Given the description of an element on the screen output the (x, y) to click on. 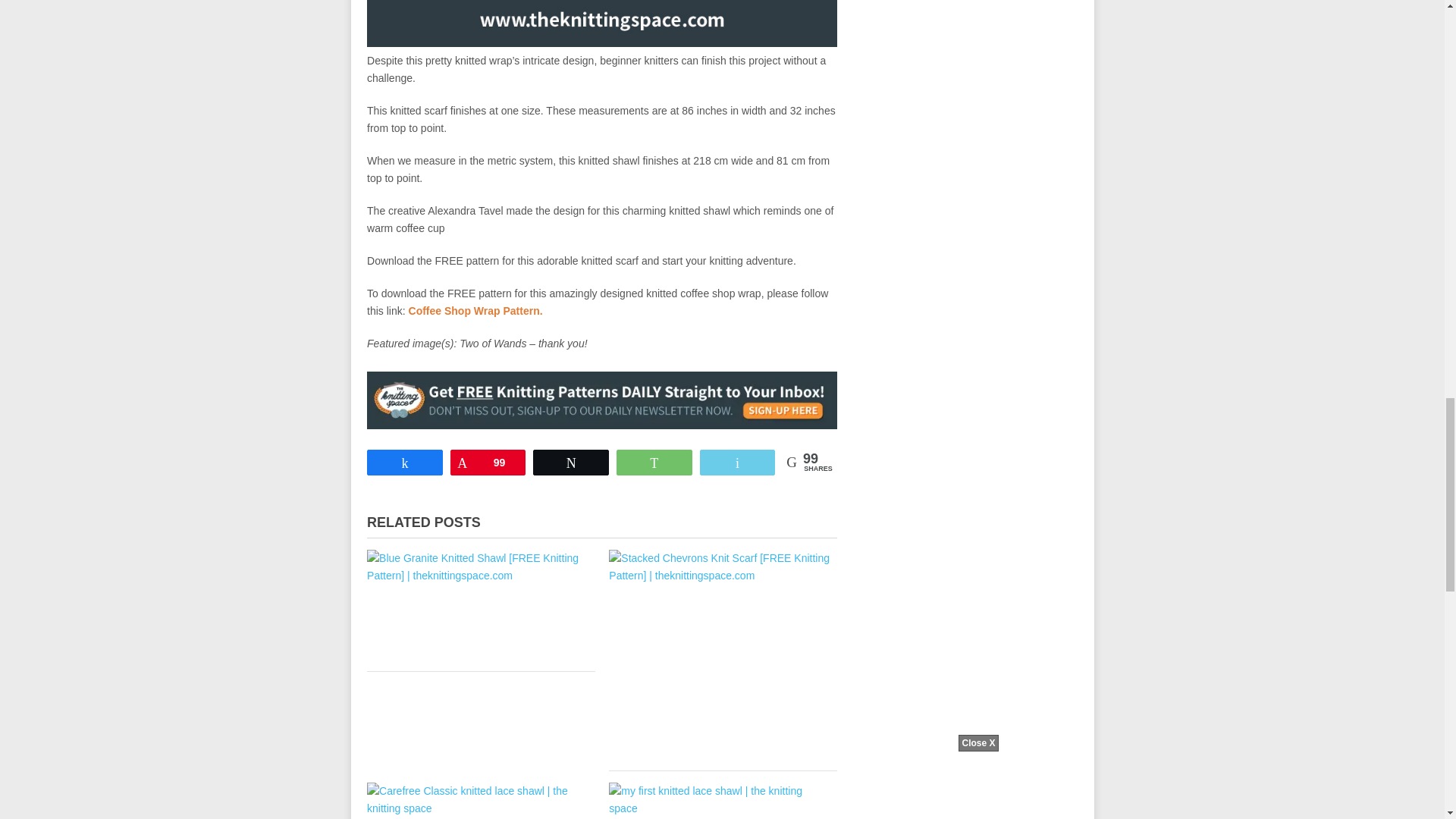
99 (488, 461)
Coffee Shop Wrap Pattern. (476, 310)
